Given the description of an element on the screen output the (x, y) to click on. 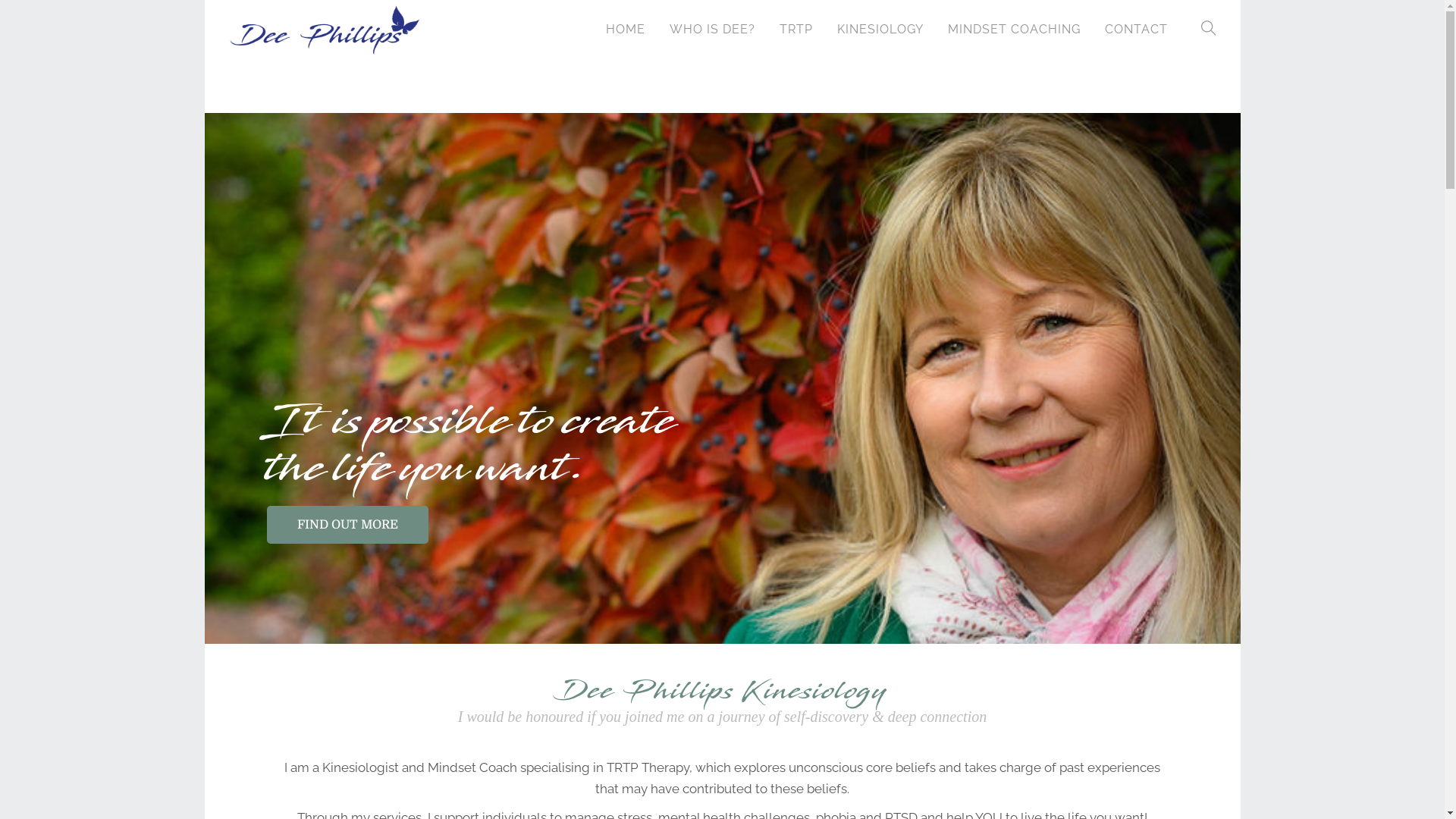
FIND OUT MORE Element type: text (347, 524)
TRTP Element type: text (795, 29)
WHO IS DEE? Element type: text (711, 29)
HOME Element type: text (624, 29)
KINESIOLOGY Element type: text (880, 29)
MINDSET COACHING Element type: text (1013, 29)
CONTACT Element type: text (1135, 29)
